Given the description of an element on the screen output the (x, y) to click on. 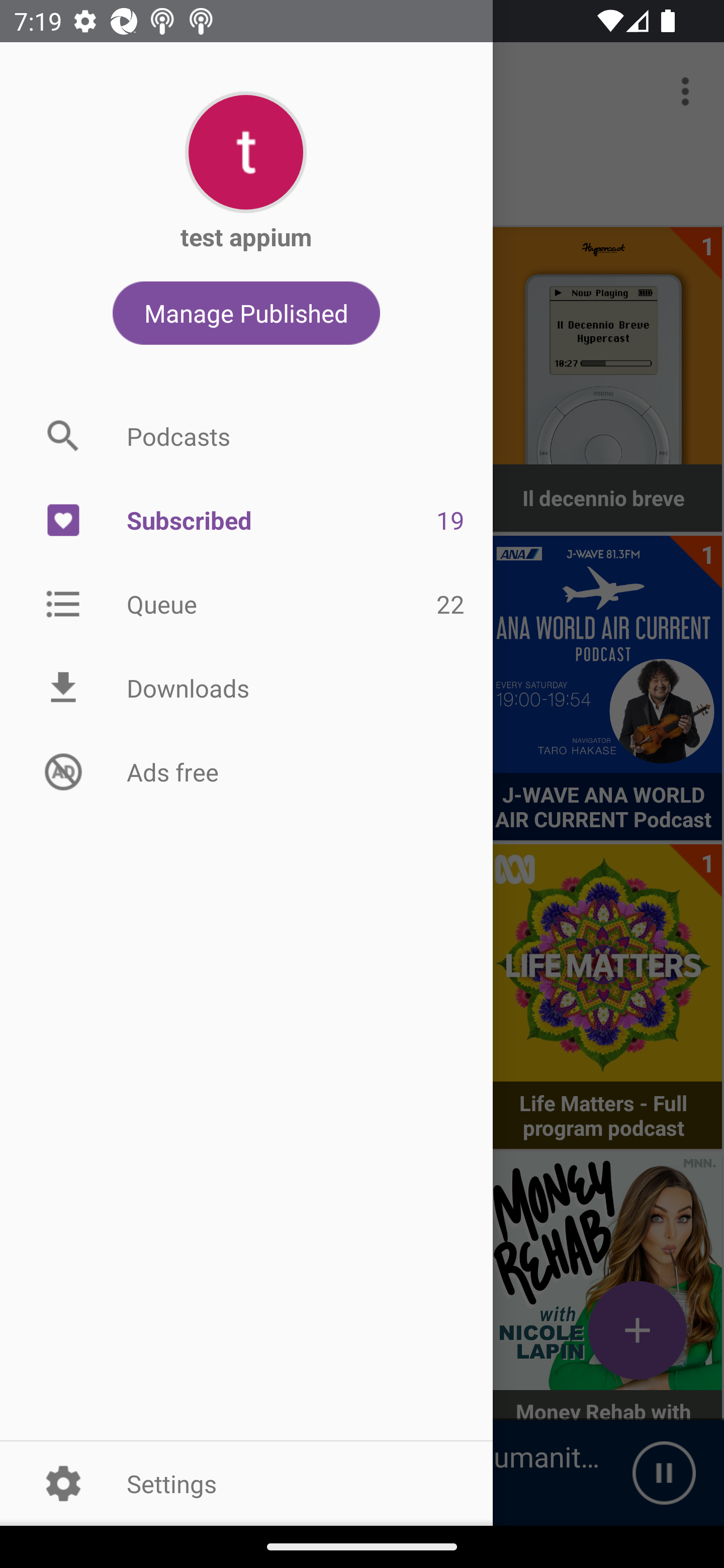
Manage Published (246, 312)
Picture Podcasts (246, 435)
Picture Subscribed 19 (246, 520)
Picture Queue 22 (246, 603)
Picture Downloads (246, 688)
Picture Ads free (246, 771)
Settings Picture Settings (246, 1482)
